Given the description of an element on the screen output the (x, y) to click on. 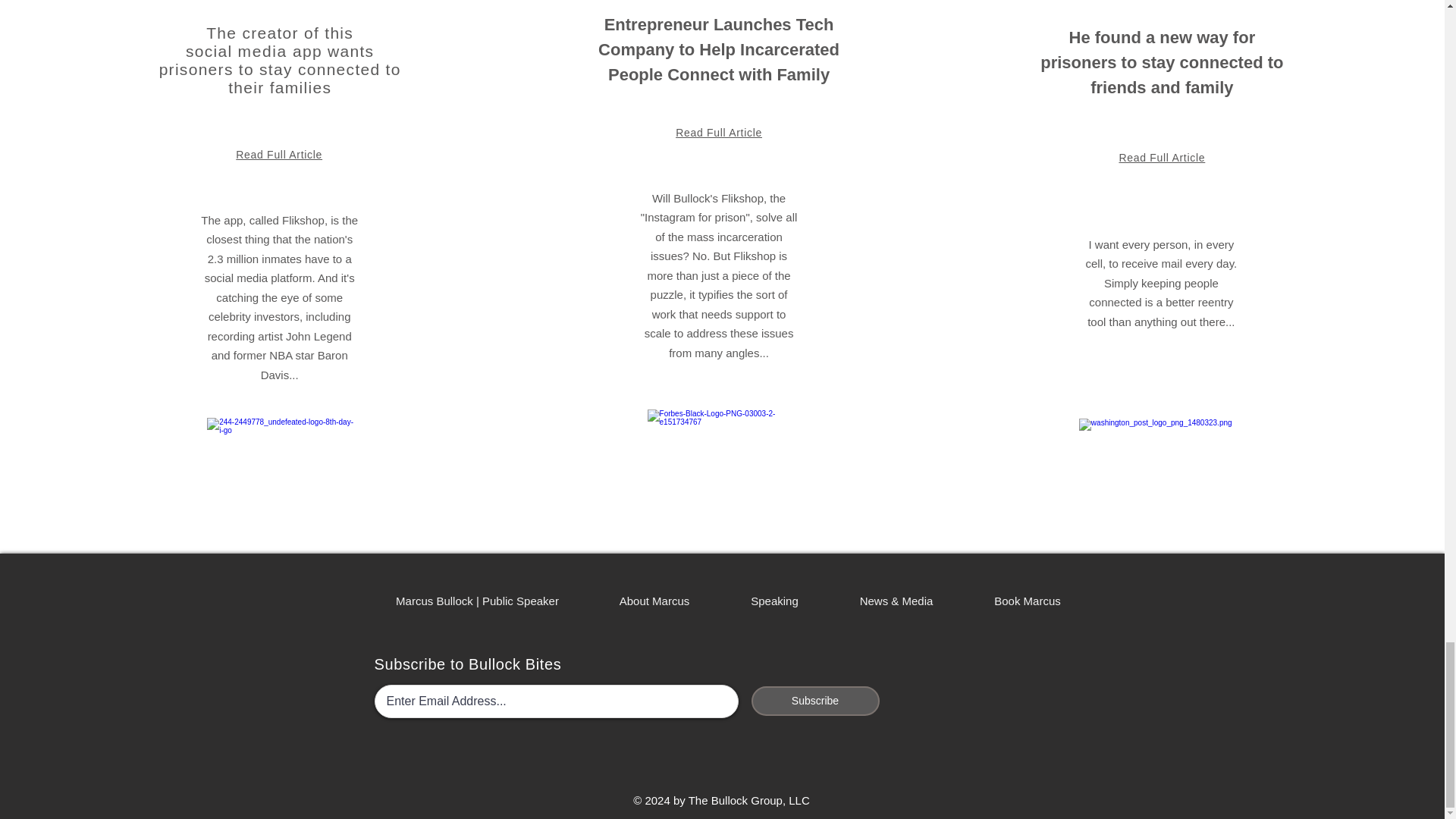
Speaking (774, 600)
Read Full Article (718, 132)
About Marcus (654, 600)
Read Full Article (278, 154)
Read Full Article (1161, 157)
